Given the description of an element on the screen output the (x, y) to click on. 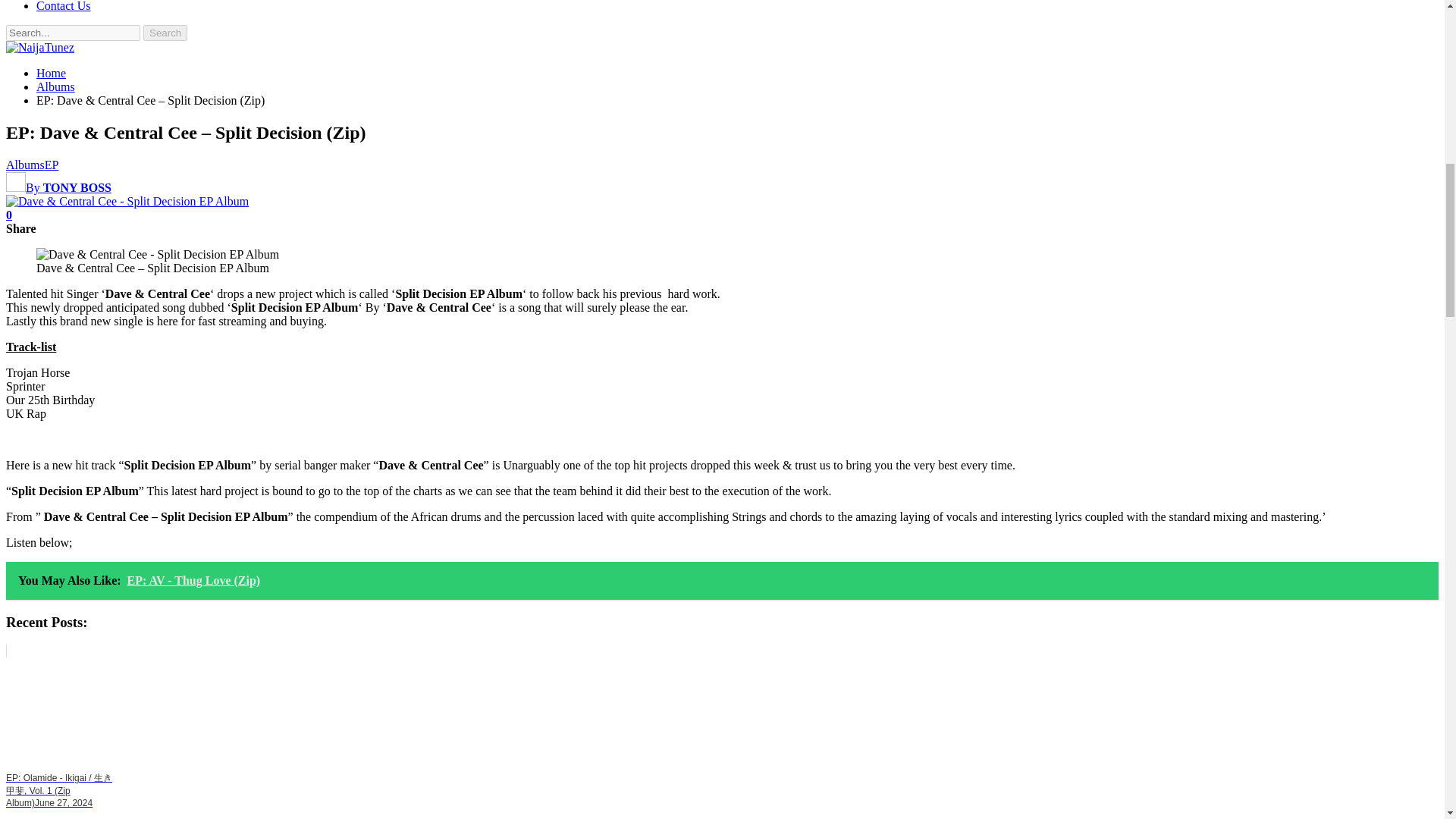
Search for: (72, 32)
Search (164, 32)
Search (164, 32)
Browse Author Articles (58, 187)
